Given the description of an element on the screen output the (x, y) to click on. 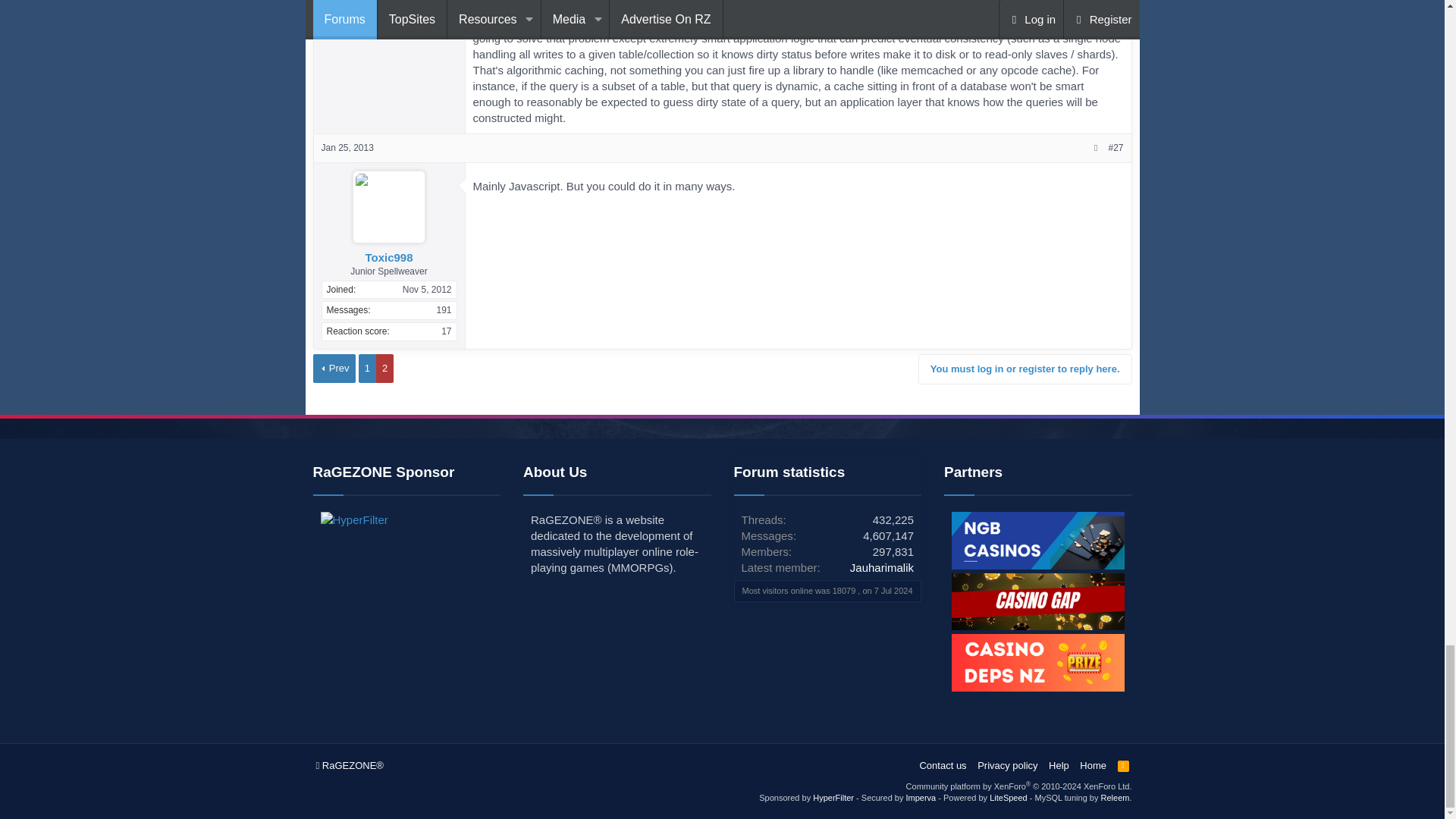
Style chooser (349, 765)
Jan 25, 2013 at 2:11 AM (347, 147)
RSS (1123, 765)
